Given the description of an element on the screen output the (x, y) to click on. 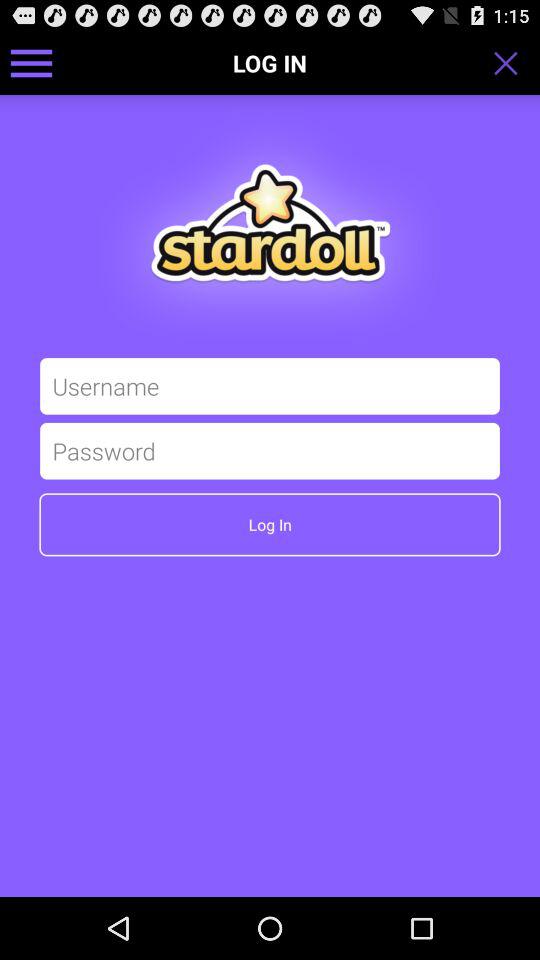
get menu option (31, 62)
